Given the description of an element on the screen output the (x, y) to click on. 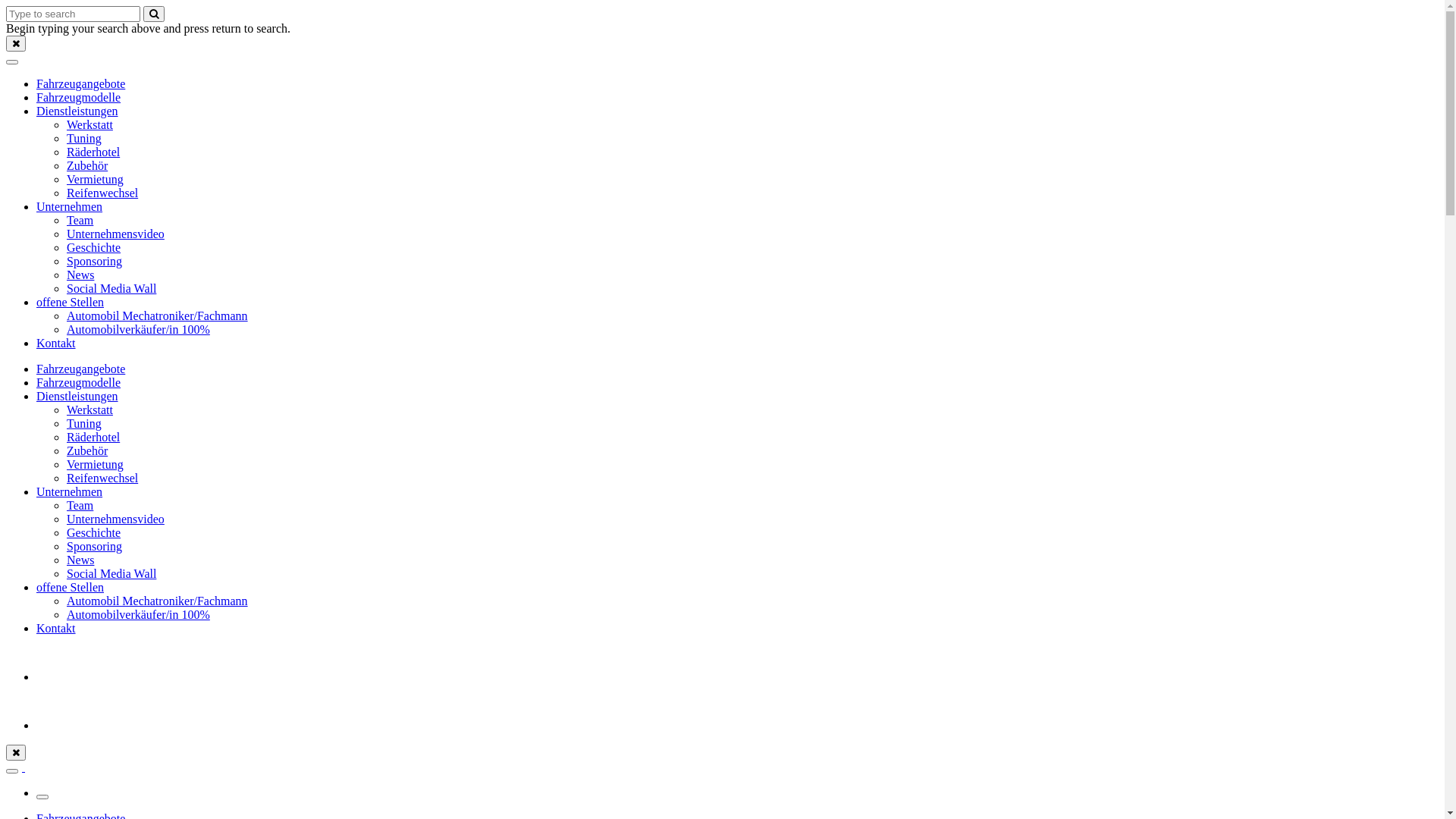
Unternehmen Element type: text (69, 491)
Unternehmen Element type: text (69, 206)
Vermietung Element type: text (94, 464)
Werkstatt Element type: text (89, 124)
News Element type: text (80, 274)
Automobil Mechatroniker/Fachmann Element type: text (156, 315)
Kontakt Element type: text (55, 342)
Tuning Element type: text (83, 423)
Unternehmensvideo Element type: text (115, 233)
Werkstatt Element type: text (89, 409)
News Element type: text (80, 559)
Dienstleistungen Element type: text (77, 110)
offene Stellen Element type: text (69, 301)
Fahrzeugangebote Element type: text (80, 368)
Fahrzeugangebote Element type: text (80, 83)
Geschichte Element type: text (93, 247)
offene Stellen Element type: text (69, 586)
Tuning Element type: text (83, 137)
Social Media Wall Element type: text (111, 573)
Sponsoring Element type: text (94, 260)
Dienstleistungen Element type: text (77, 395)
Reifenwechsel Element type: text (102, 477)
Geschichte Element type: text (93, 532)
Social Media Wall Element type: text (111, 288)
Automobil Mechatroniker/Fachmann Element type: text (156, 600)
Team Element type: text (79, 219)
Kontakt Element type: text (55, 627)
Fahrzeugmodelle Element type: text (78, 382)
Team Element type: text (79, 504)
Reifenwechsel Element type: text (102, 192)
Fahrzeugmodelle Element type: text (78, 97)
Sponsoring Element type: text (94, 545)
Unternehmensvideo Element type: text (115, 518)
Vermietung Element type: text (94, 178)
